Given the description of an element on the screen output the (x, y) to click on. 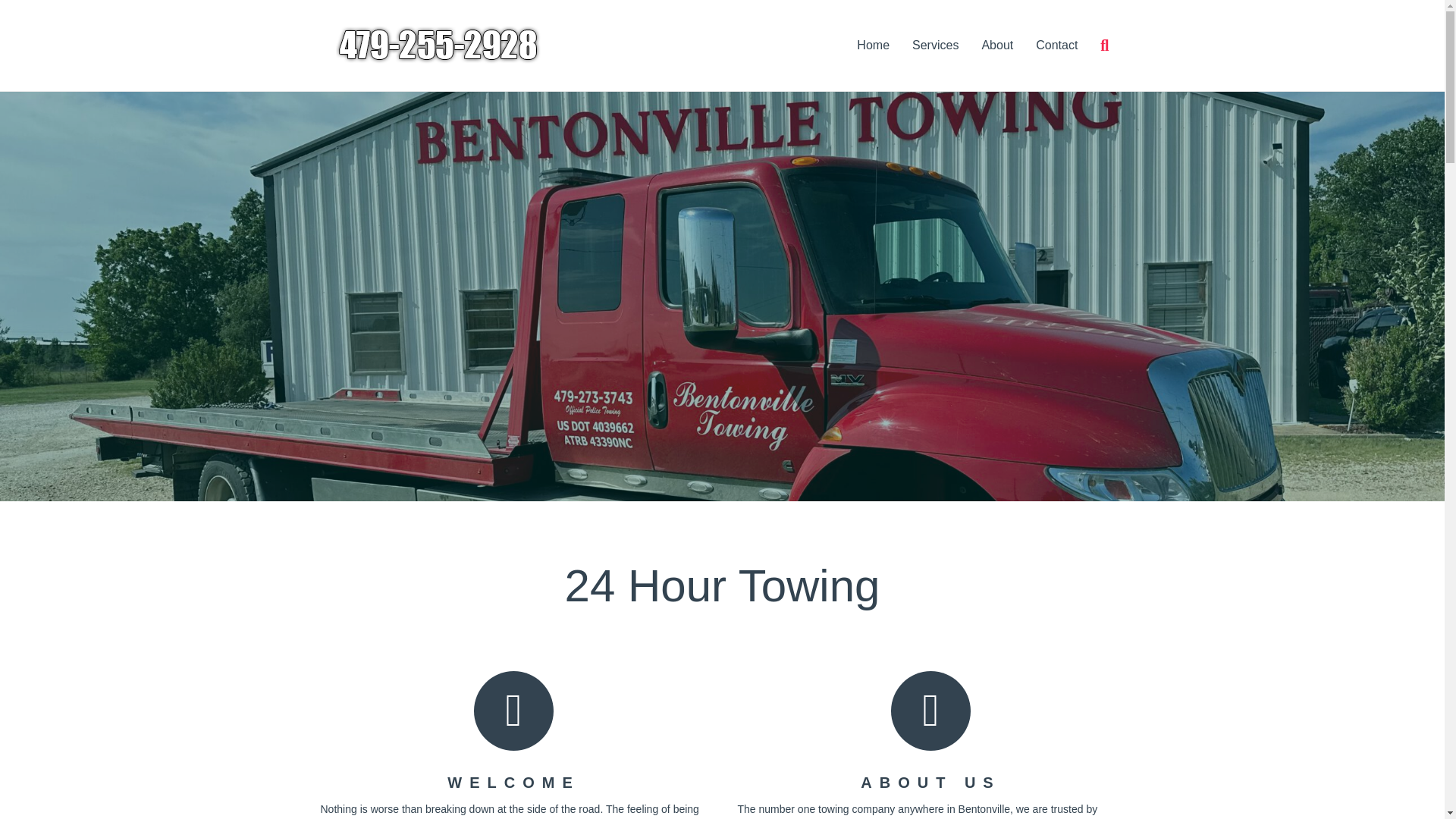
Home (873, 45)
Services (935, 45)
About (997, 45)
Contact (1057, 45)
